Given the description of an element on the screen output the (x, y) to click on. 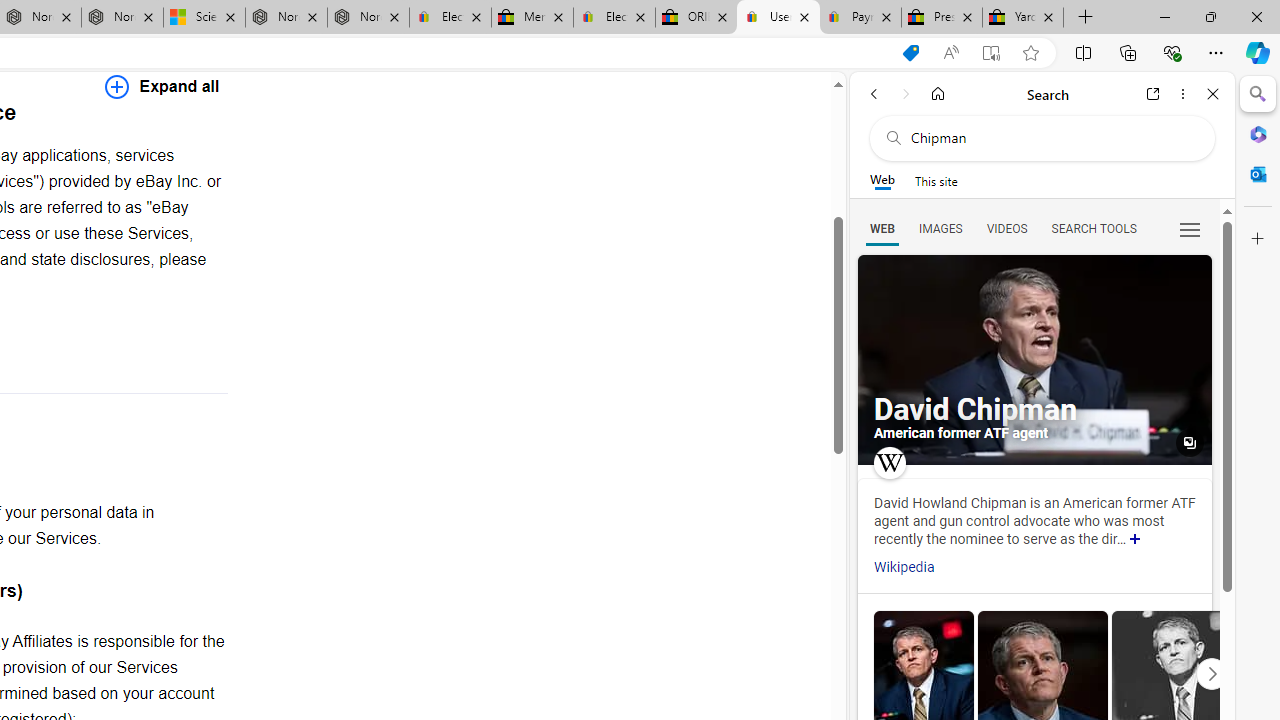
Yard, Garden & Outdoor Living (1023, 17)
Preferences (1189, 228)
Search the web (1051, 137)
Class: b_serphb (1190, 229)
